Given the description of an element on the screen output the (x, y) to click on. 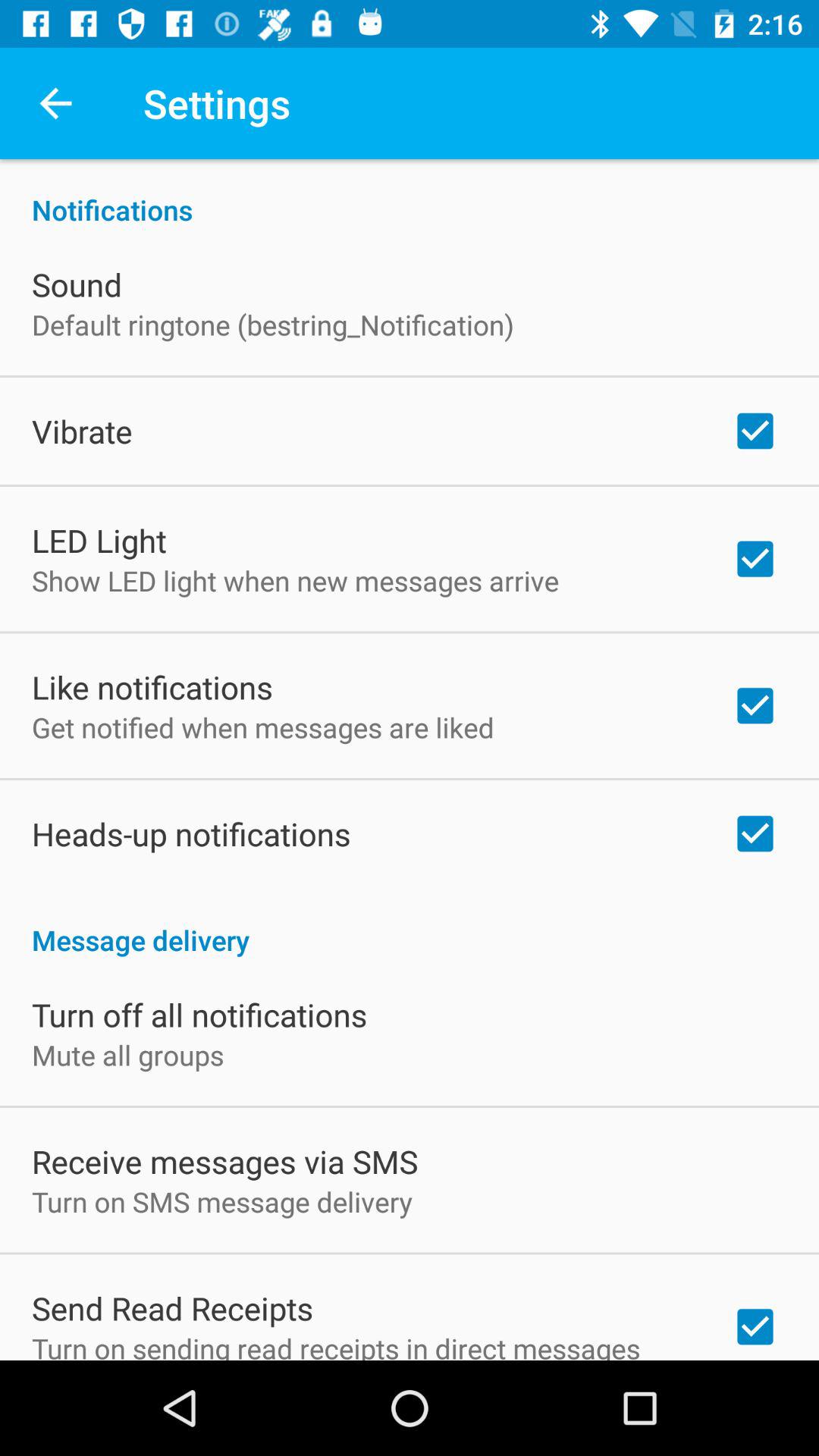
launch icon above the vibrate (272, 324)
